Given the description of an element on the screen output the (x, y) to click on. 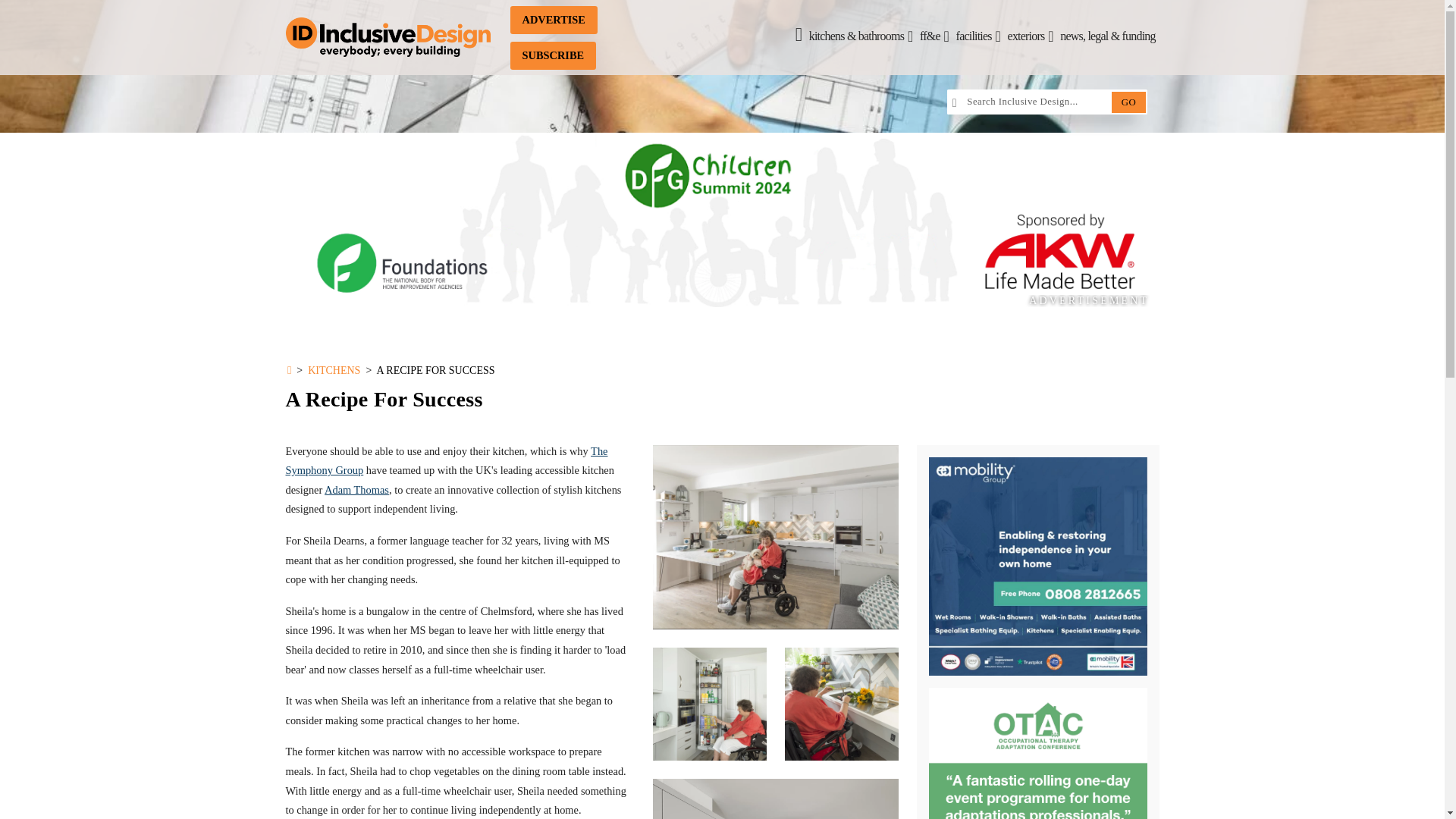
exteriors (1030, 36)
KITCHENS (333, 369)
Search Inclusive Design... (1034, 102)
InclusiveDesign Home (387, 37)
The Symphony Group (446, 460)
GO (1128, 102)
facilities (978, 36)
Adam Thomas (356, 490)
